Given the description of an element on the screen output the (x, y) to click on. 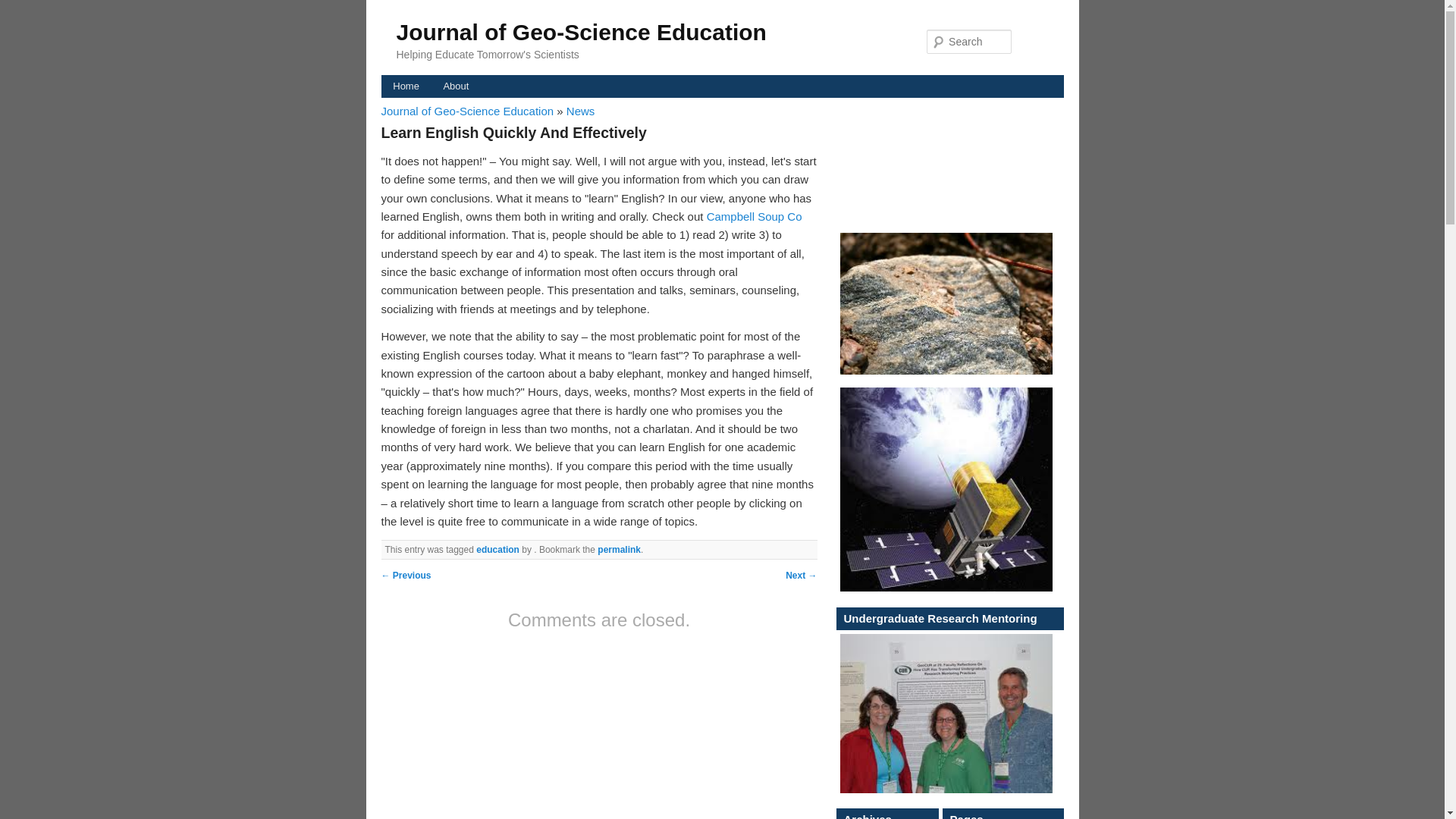
permalink (618, 549)
Permalink to Learn English Quickly And Effectively (618, 549)
Journal of Geo-Science Education (580, 32)
Journal of Geo-Science Education (580, 32)
Home (405, 86)
About (455, 86)
education (497, 549)
Journal of Geo-Science Education (468, 110)
Journal of Geo-Science Education (468, 110)
News (580, 110)
